Given the description of an element on the screen output the (x, y) to click on. 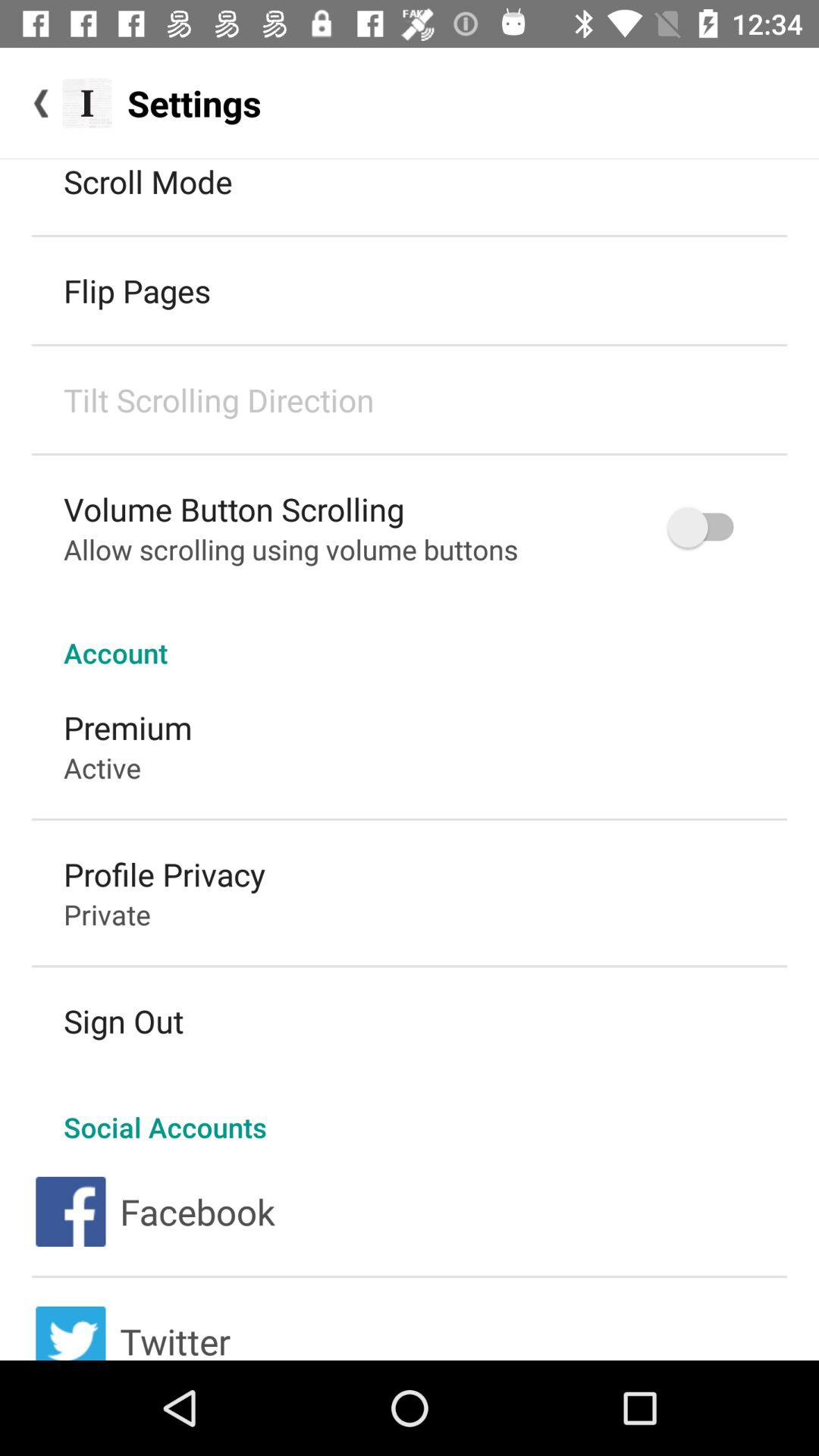
launch item below sign out (409, 1111)
